Given the description of an element on the screen output the (x, y) to click on. 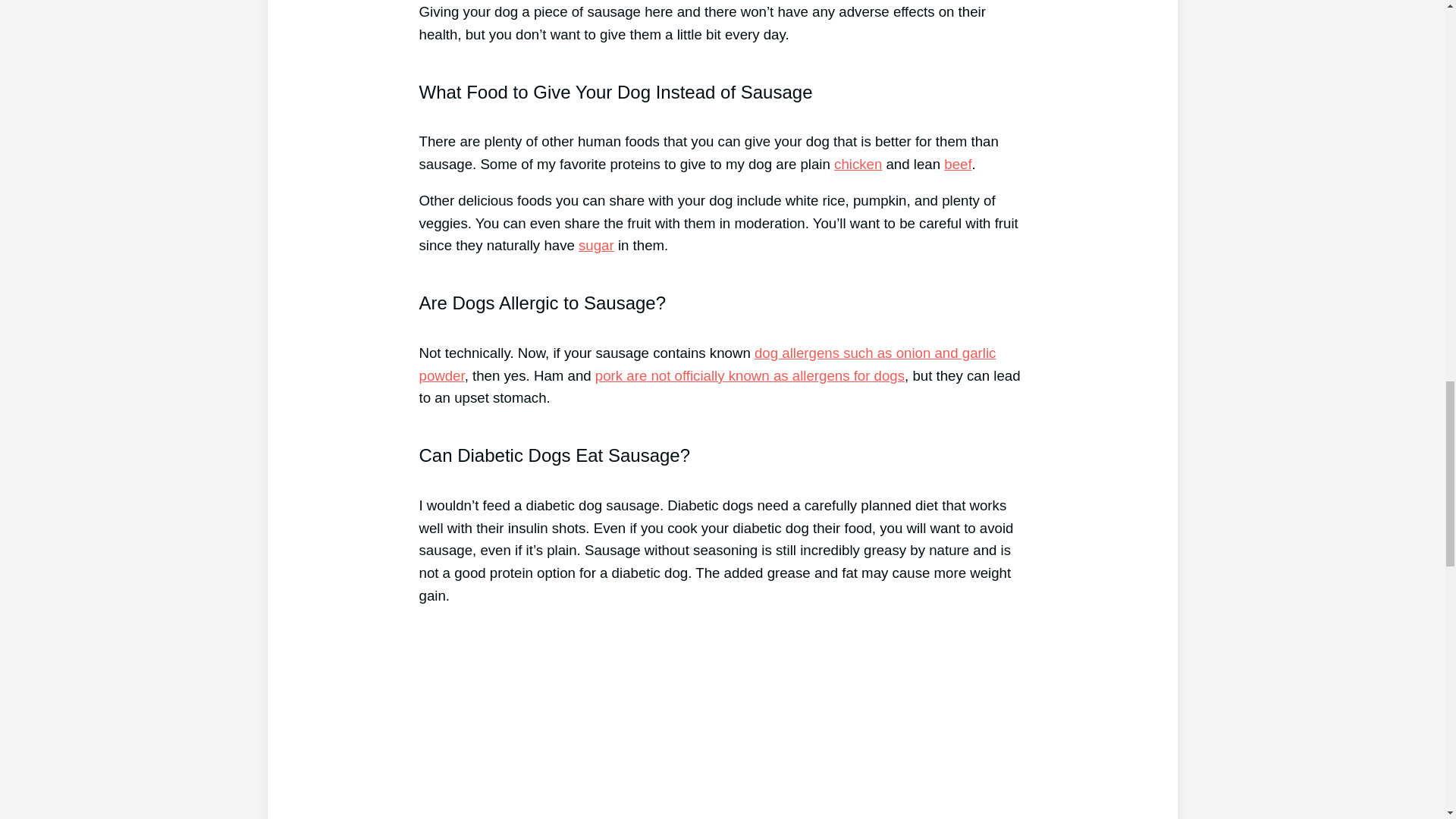
beef (957, 163)
sugar (596, 245)
dog allergens such as onion and garlic powder (707, 364)
pork are not officially known as allergens for dogs (749, 375)
chicken (858, 163)
